Given the description of an element on the screen output the (x, y) to click on. 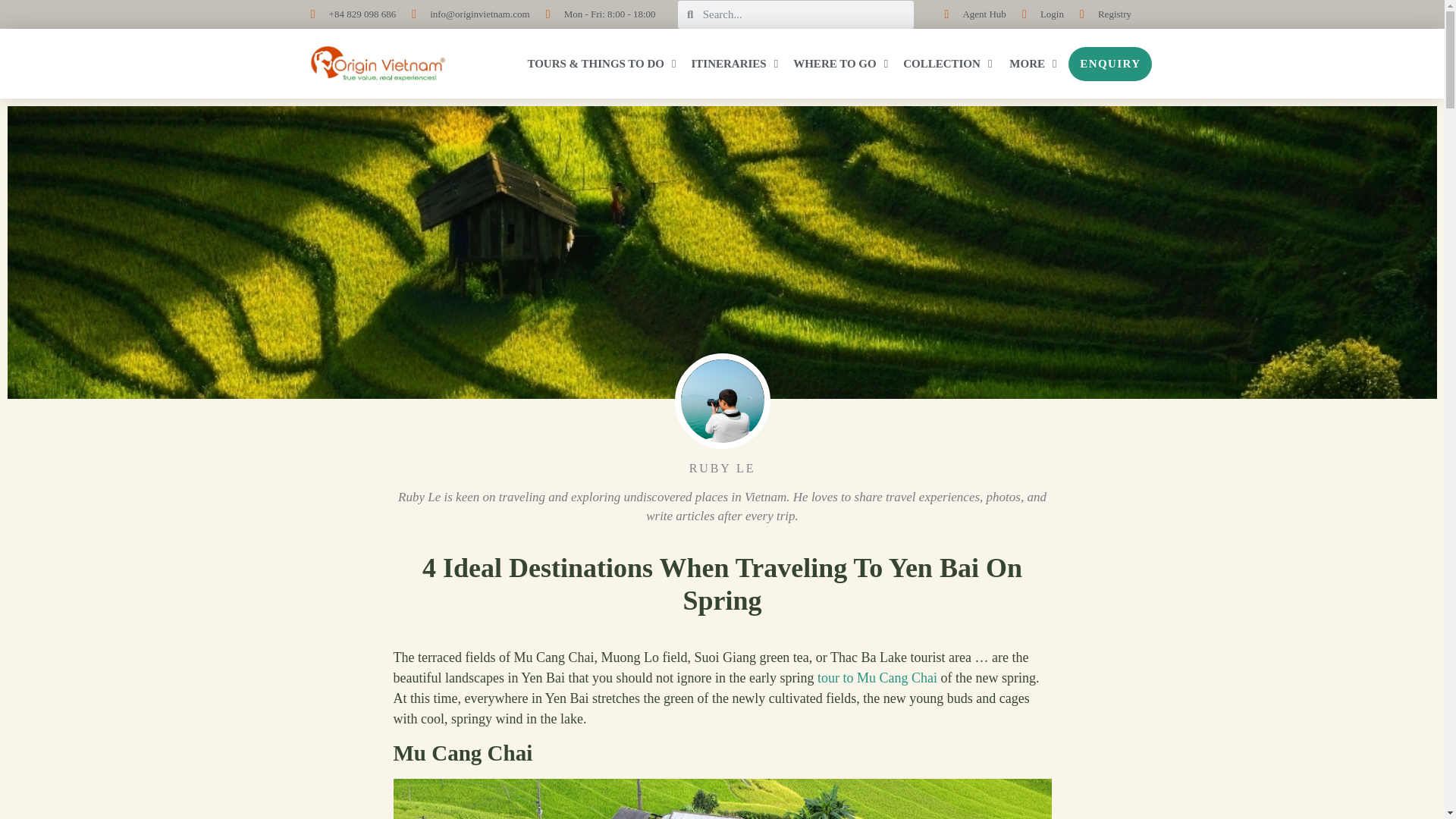
Registry (1099, 14)
Agent Hub (969, 14)
Login (1037, 14)
